Given the description of an element on the screen output the (x, y) to click on. 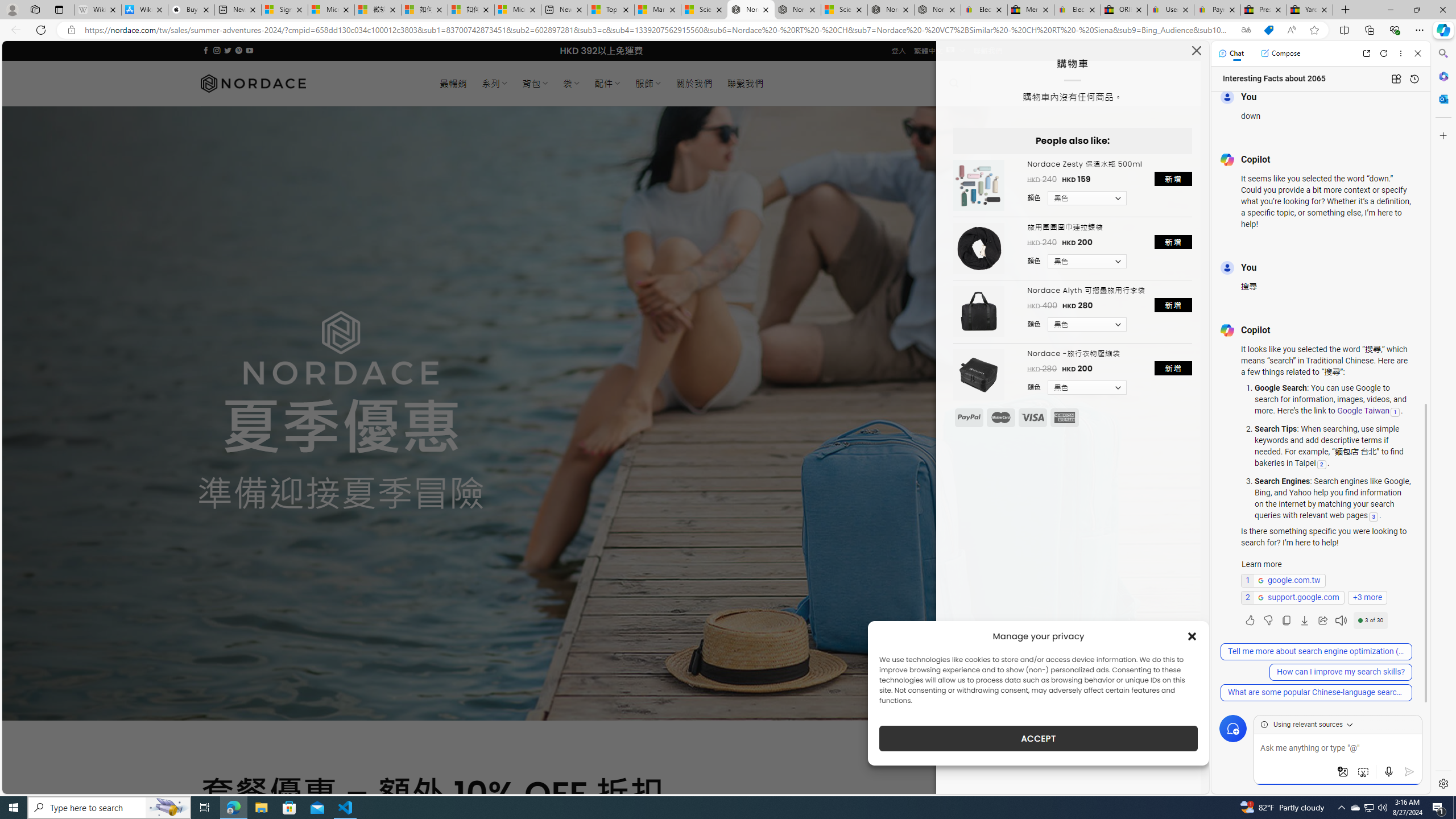
Follow on Instagram (216, 50)
